Given the description of an element on the screen output the (x, y) to click on. 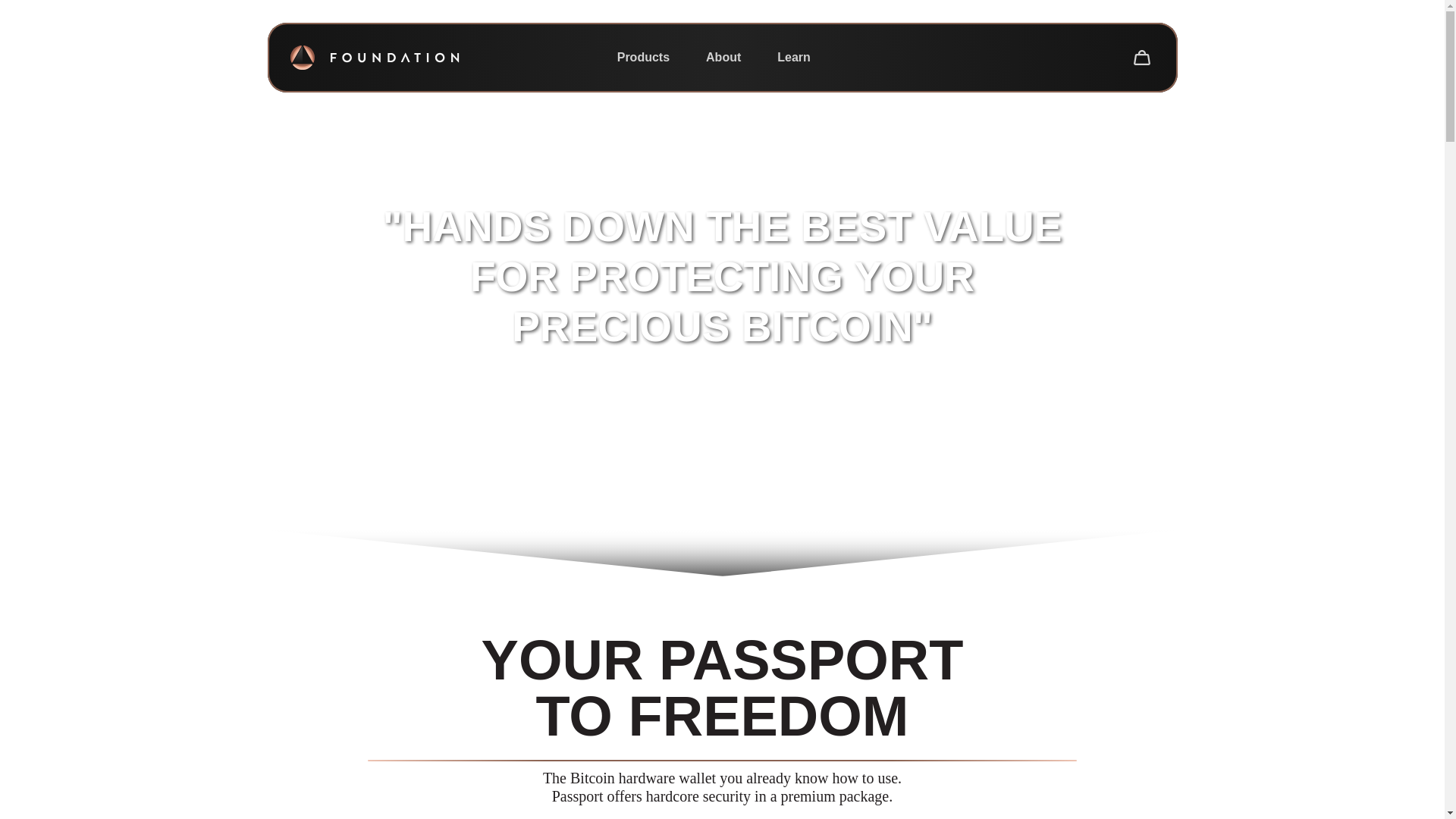
Learn (793, 57)
Foundation (373, 57)
About (722, 57)
Products (642, 57)
